Given the description of an element on the screen output the (x, y) to click on. 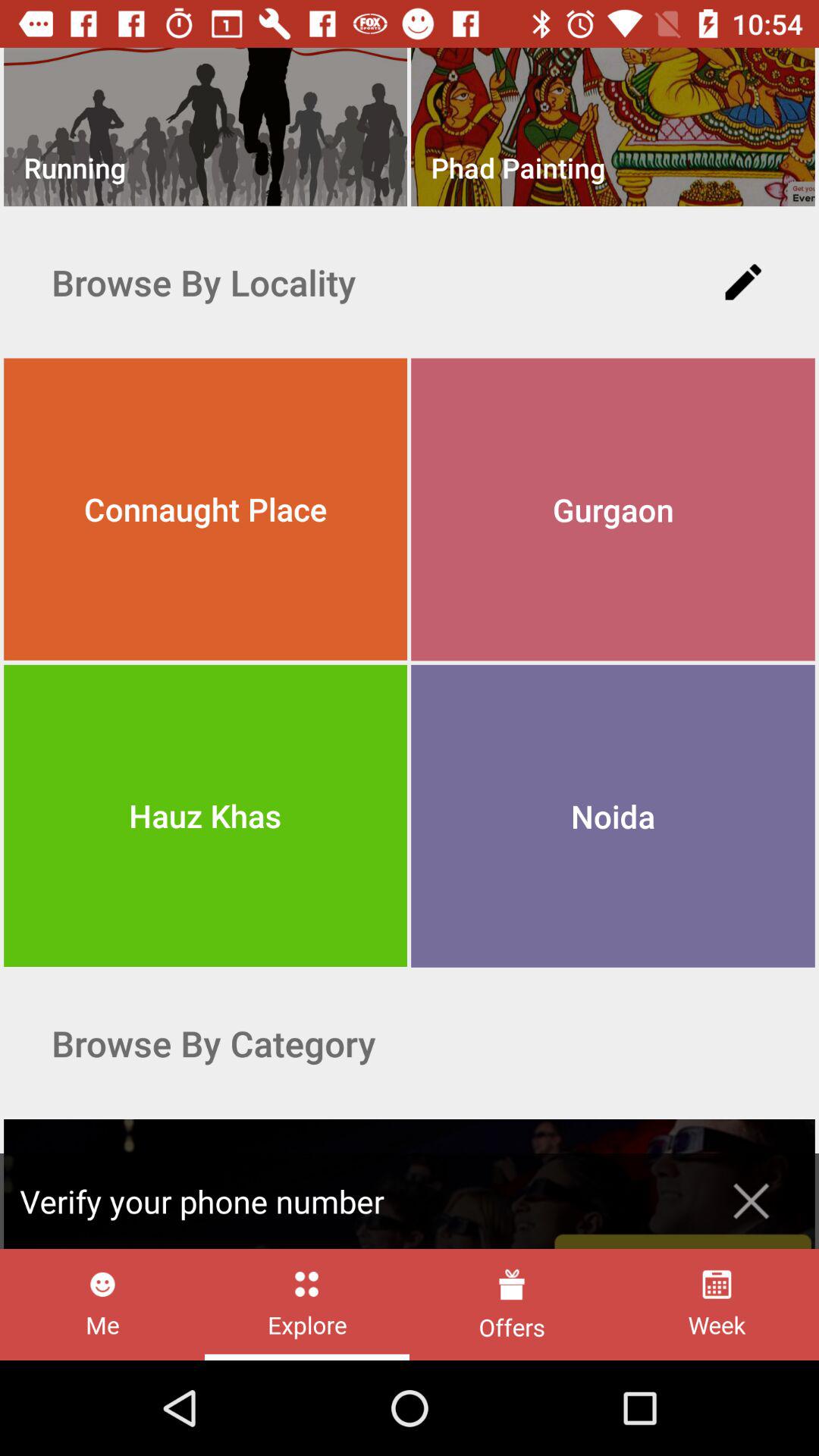
turn off the item to the left of offers item (306, 1304)
